Given the description of an element on the screen output the (x, y) to click on. 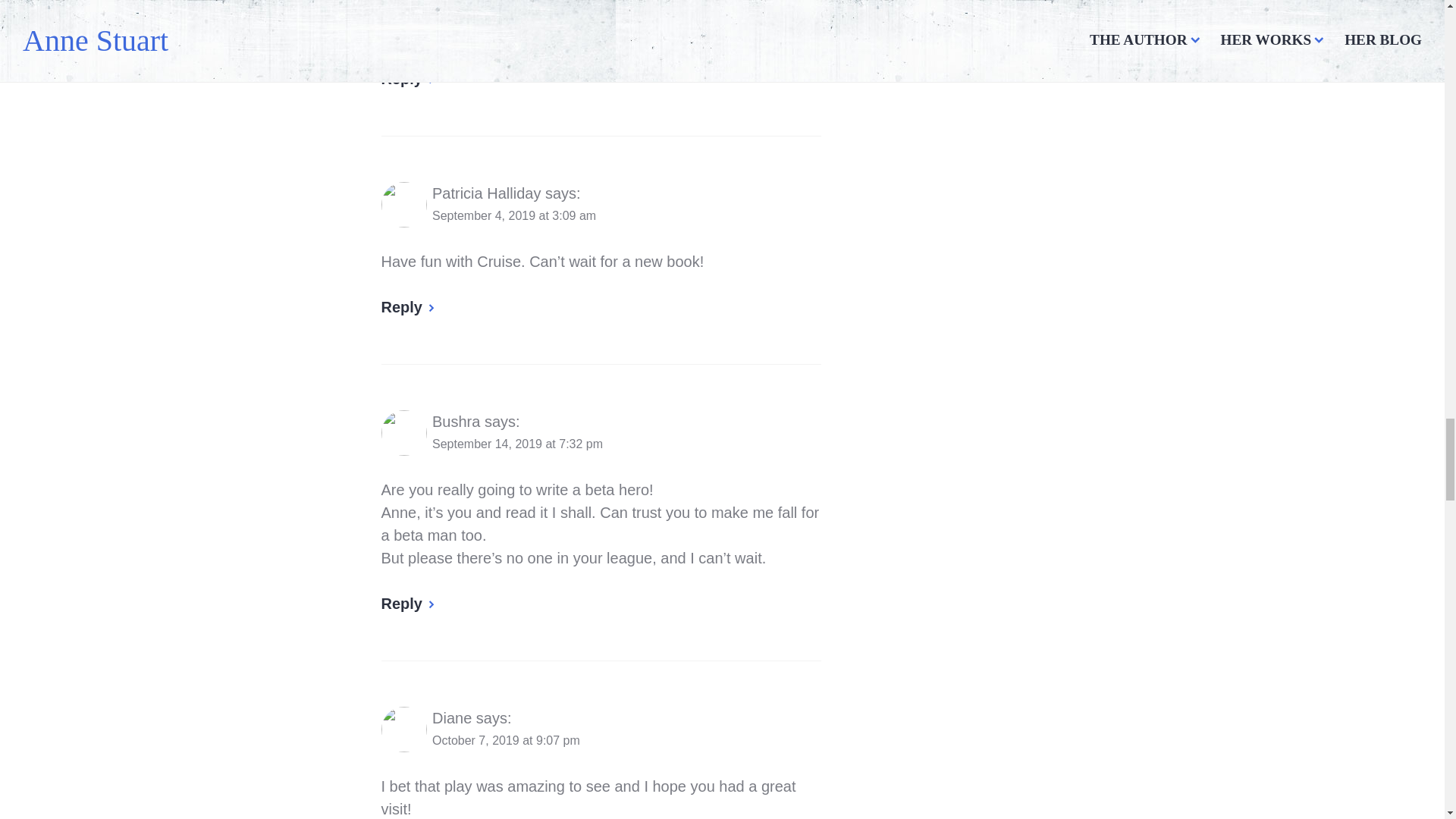
September 4, 2019 at 3:09 am (513, 215)
Reply (408, 78)
September 14, 2019 at 7:32 pm (517, 443)
Reply (408, 306)
Reply (408, 603)
